Given the description of an element on the screen output the (x, y) to click on. 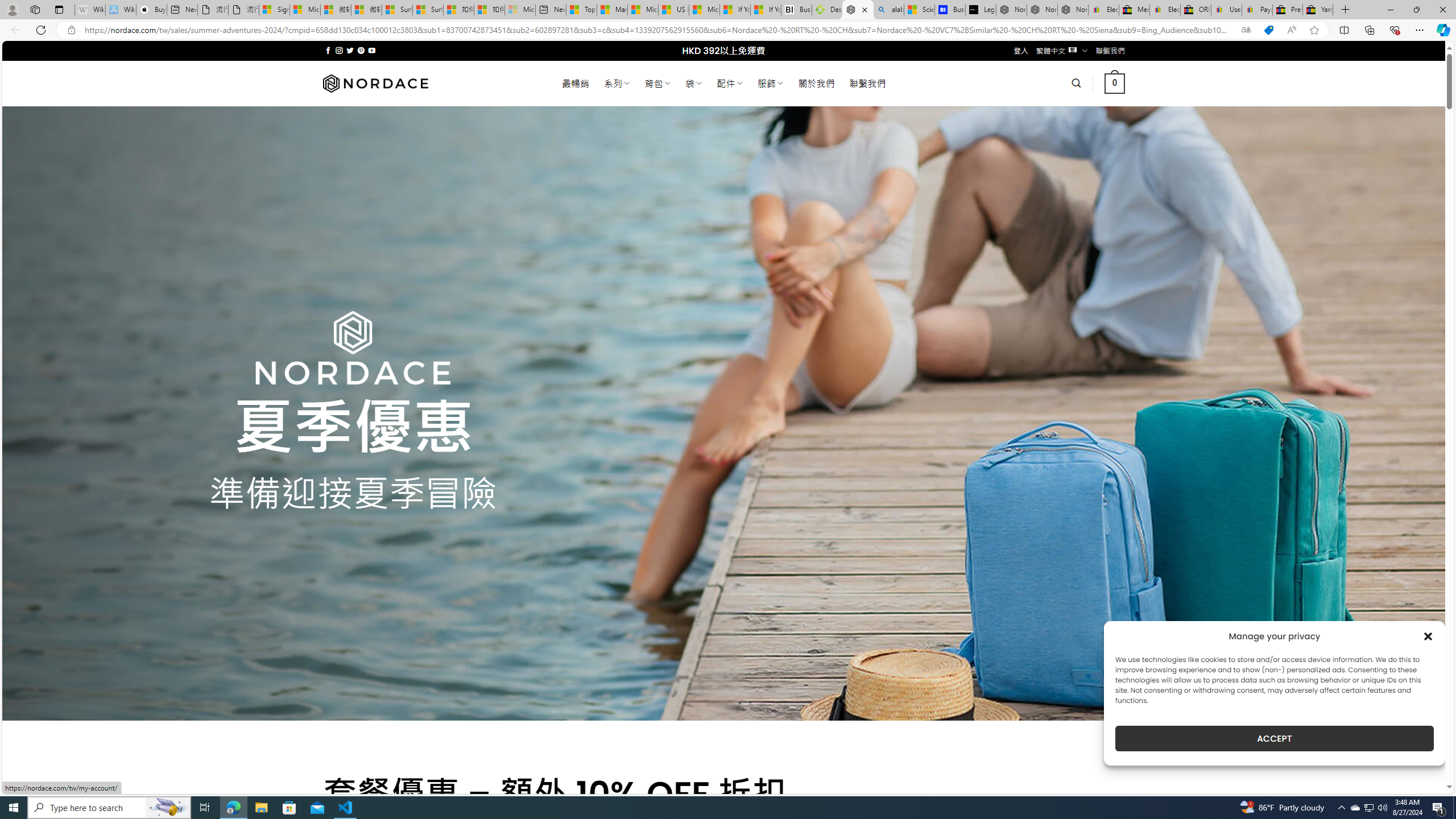
Sign in to your Microsoft account (274, 9)
Payments Terms of Use | eBay.com (1256, 9)
Follow on Pinterest (360, 50)
